Given the description of an element on the screen output the (x, y) to click on. 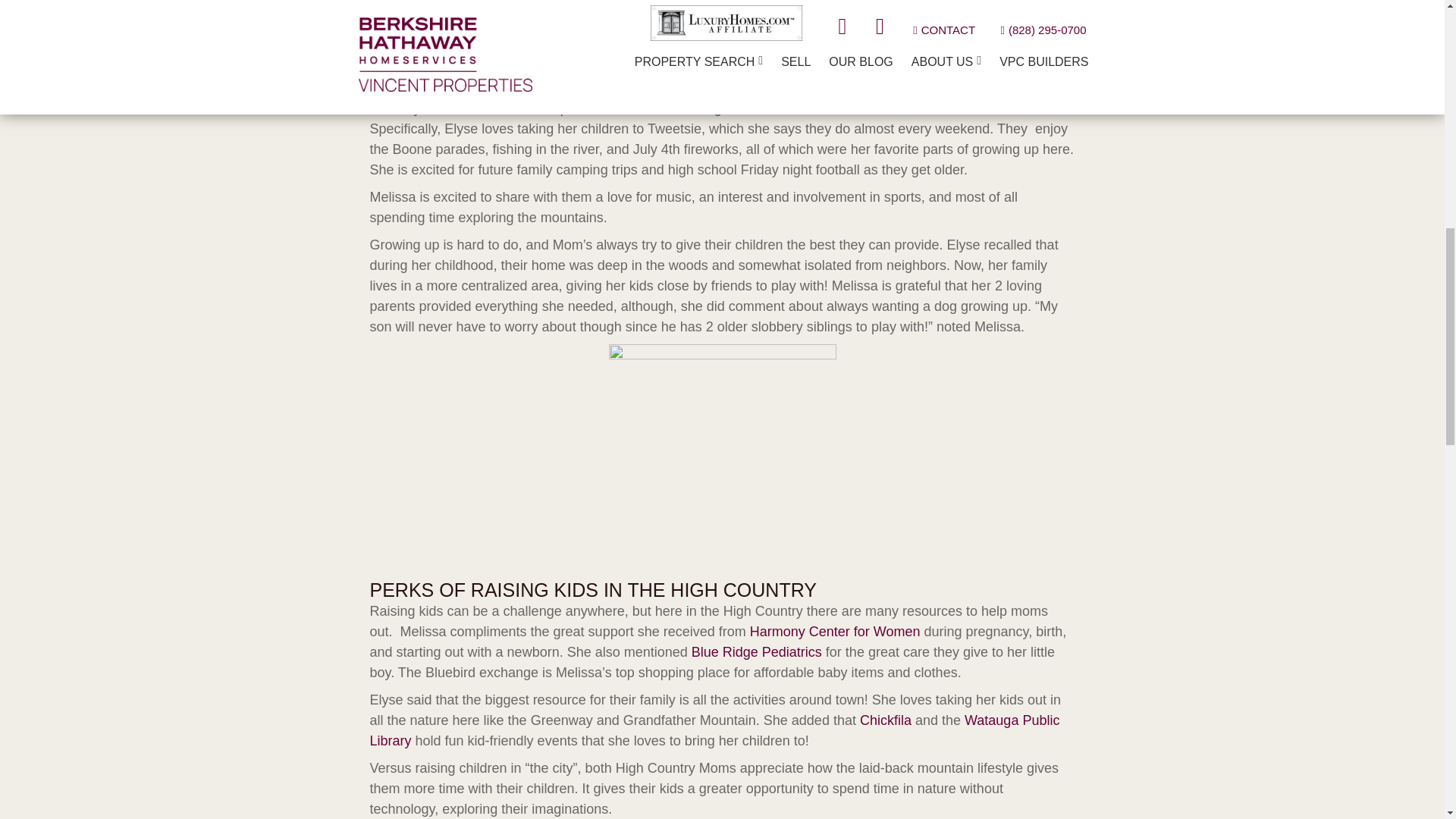
Harmony Center for Women (834, 631)
Blue Ridge Pediatrics (756, 652)
Watauga Public Library (714, 730)
Chickfila (885, 720)
